Given the description of an element on the screen output the (x, y) to click on. 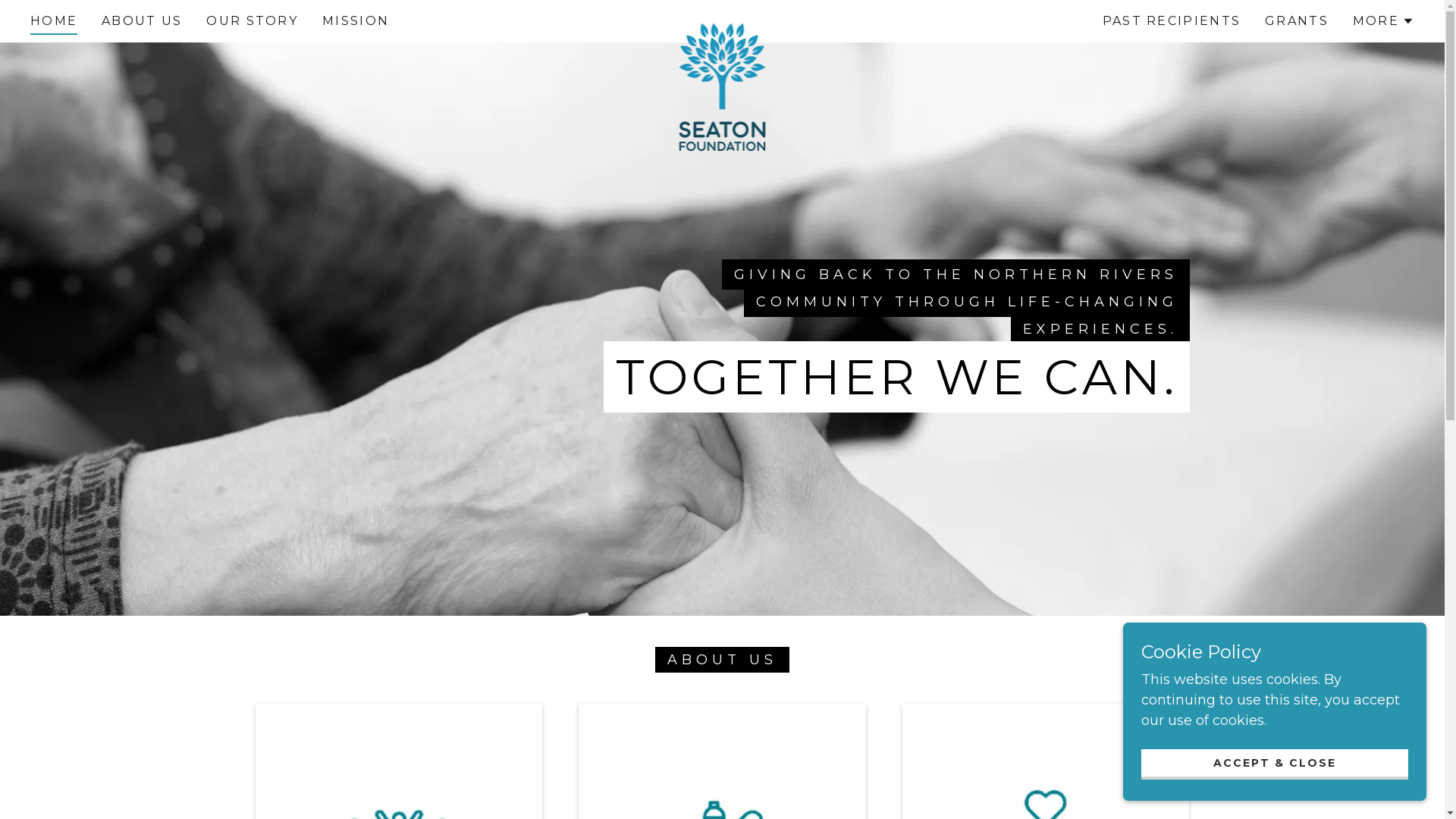
Seaton Foundation Element type: hover (721, 18)
MORE Element type: text (1383, 21)
OUR STORY Element type: text (251, 20)
ABOUT US Element type: text (141, 20)
GRANTS Element type: text (1296, 20)
MISSION Element type: text (355, 20)
PAST RECIPIENTS Element type: text (1171, 20)
HOME Element type: text (53, 23)
ACCEPT & CLOSE Element type: text (1274, 764)
